Given the description of an element on the screen output the (x, y) to click on. 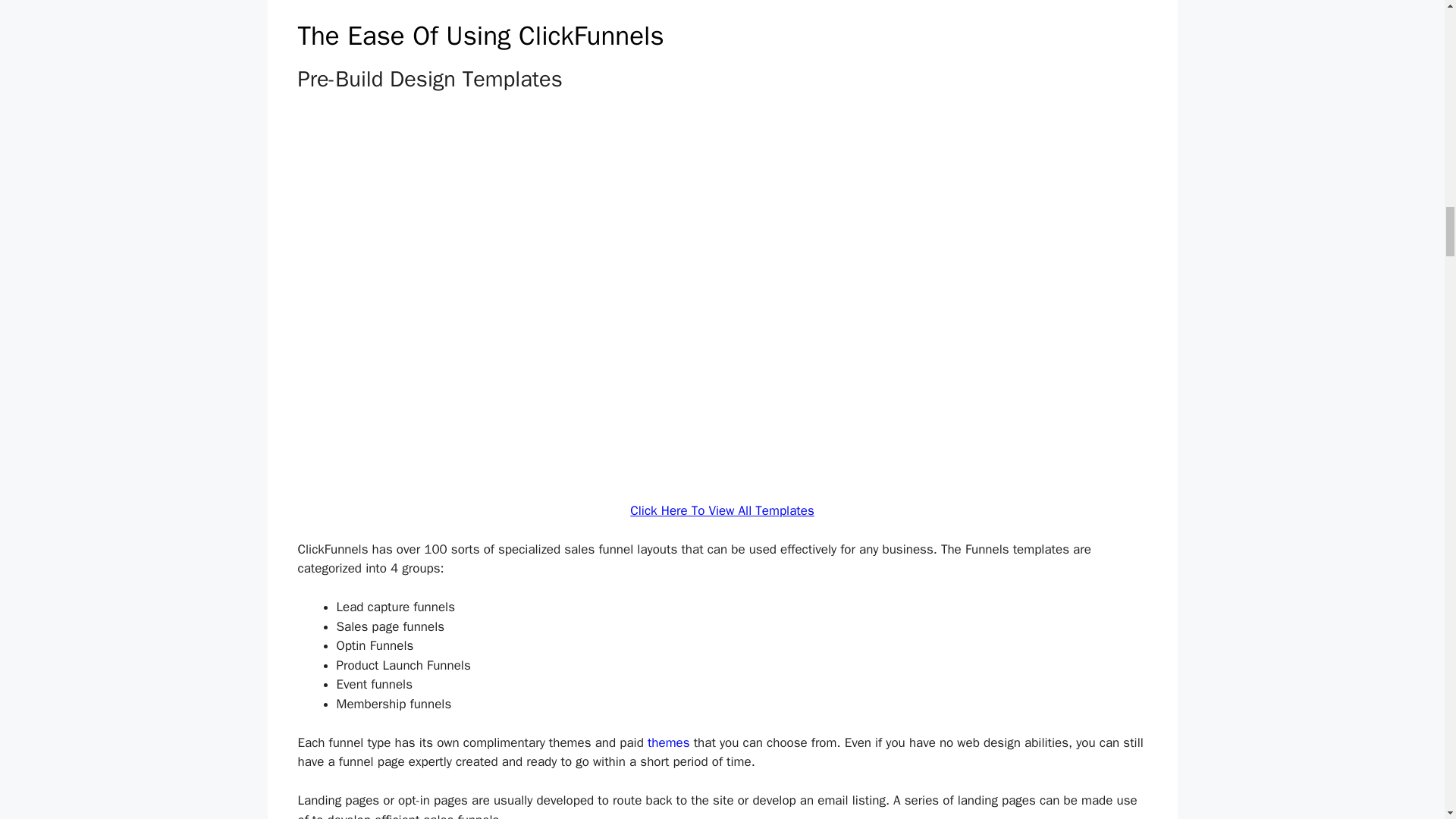
Click Here To View All Templates (721, 510)
themes (668, 742)
